Given the description of an element on the screen output the (x, y) to click on. 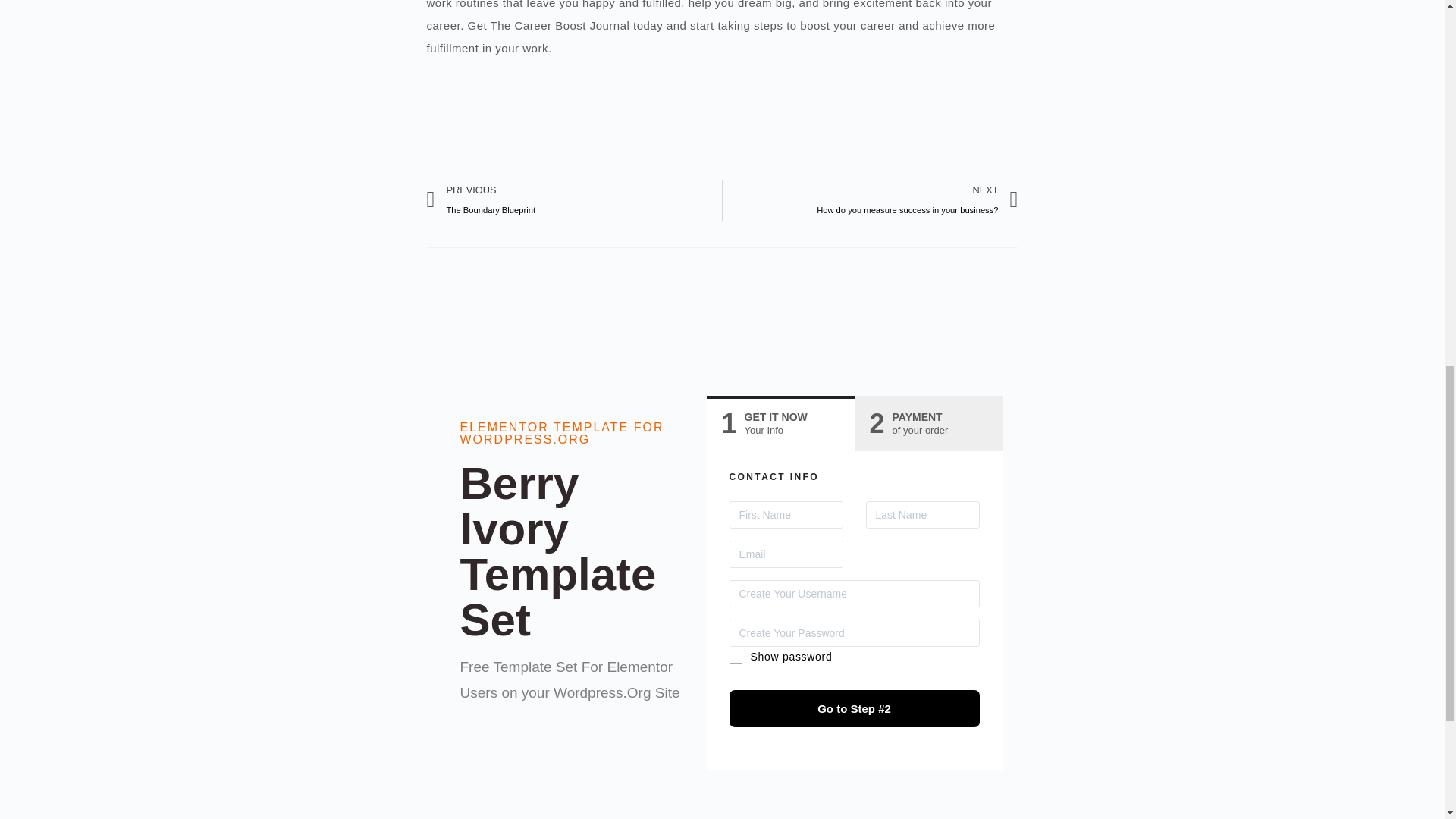
on (574, 199)
